Given the description of an element on the screen output the (x, y) to click on. 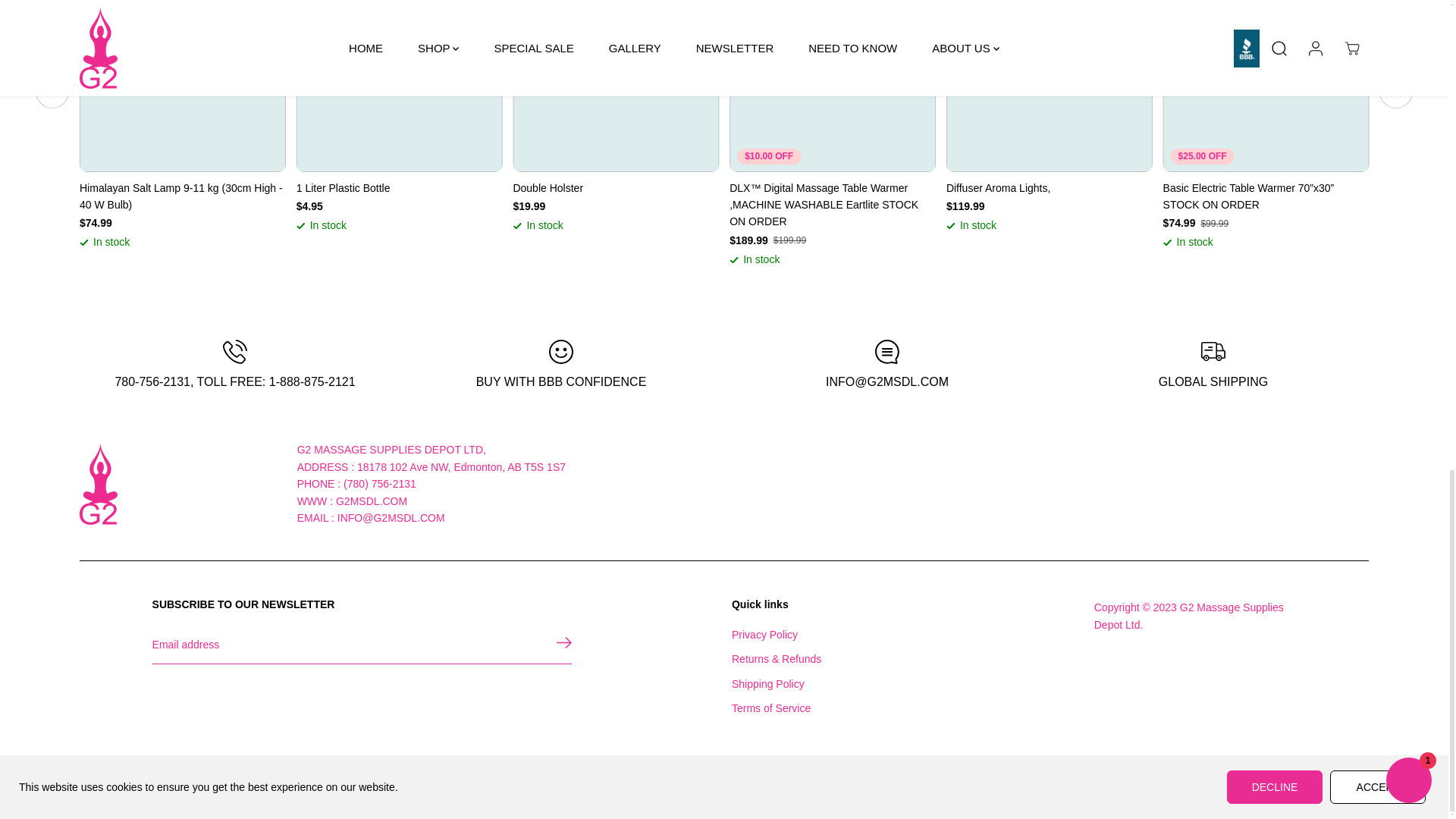
1 Liter Plastic Bottle (399, 187)
Double Holster (615, 187)
